Given the description of an element on the screen output the (x, y) to click on. 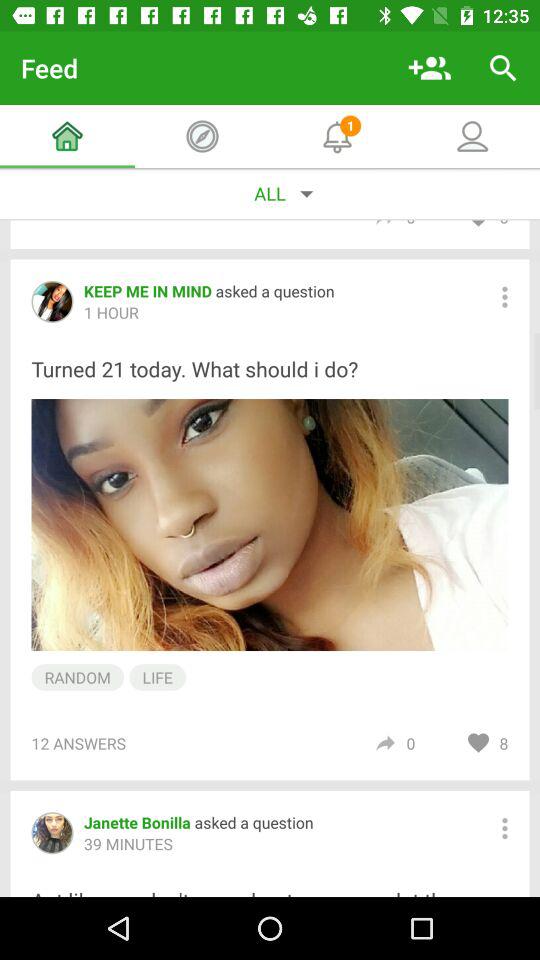
more details (504, 296)
